Given the description of an element on the screen output the (x, y) to click on. 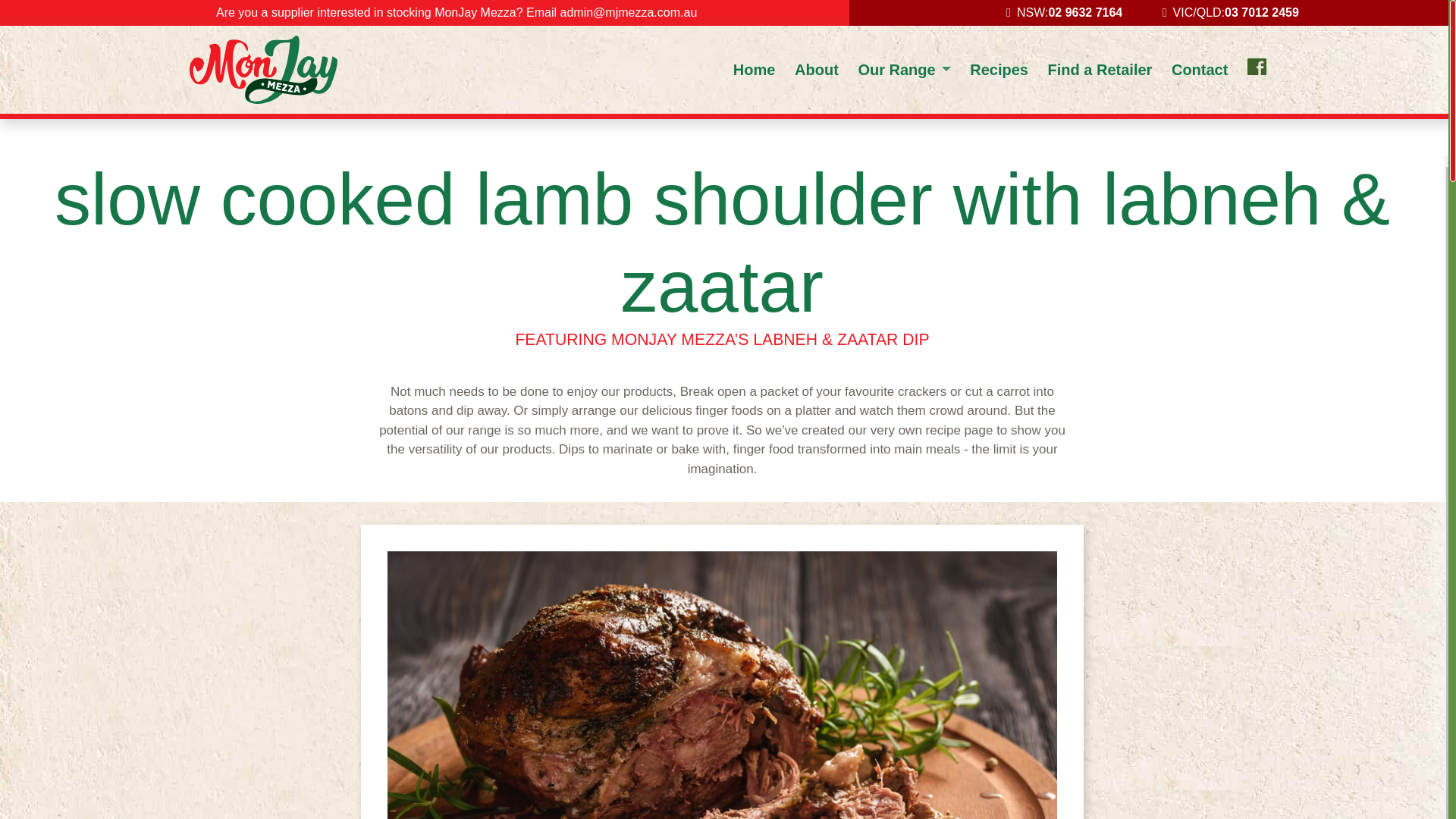
Contact (1209, 69)
Recipes (1007, 69)
About (825, 69)
Home (763, 69)
Monjay Mezza - The home of traditional Middle Eastern Dips (263, 69)
Our Range (913, 69)
Find a Retailer (1110, 69)
NSW:02 9632 7164 (1064, 13)
Monjay Mezza (263, 70)
